Given the description of an element on the screen output the (x, y) to click on. 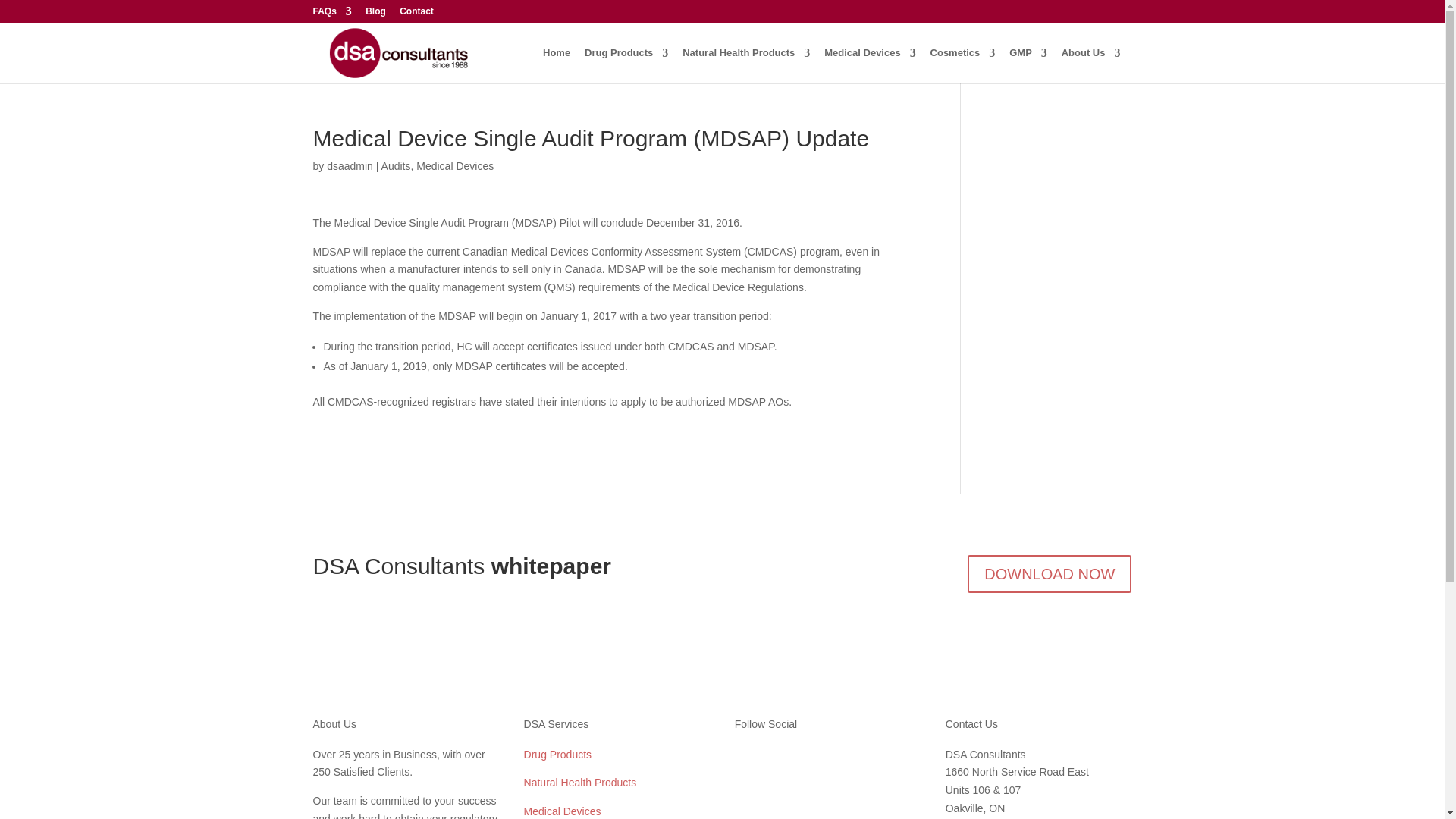
Contact (415, 14)
Drug Products (626, 65)
Follow on Google (746, 758)
Follow on Twitter (806, 758)
GMP (1027, 65)
Blog (375, 14)
Posts by dsaadmin (349, 165)
Natural Health Products (745, 65)
Follow on LinkedIn (777, 758)
Cosmetics (962, 65)
